Given the description of an element on the screen output the (x, y) to click on. 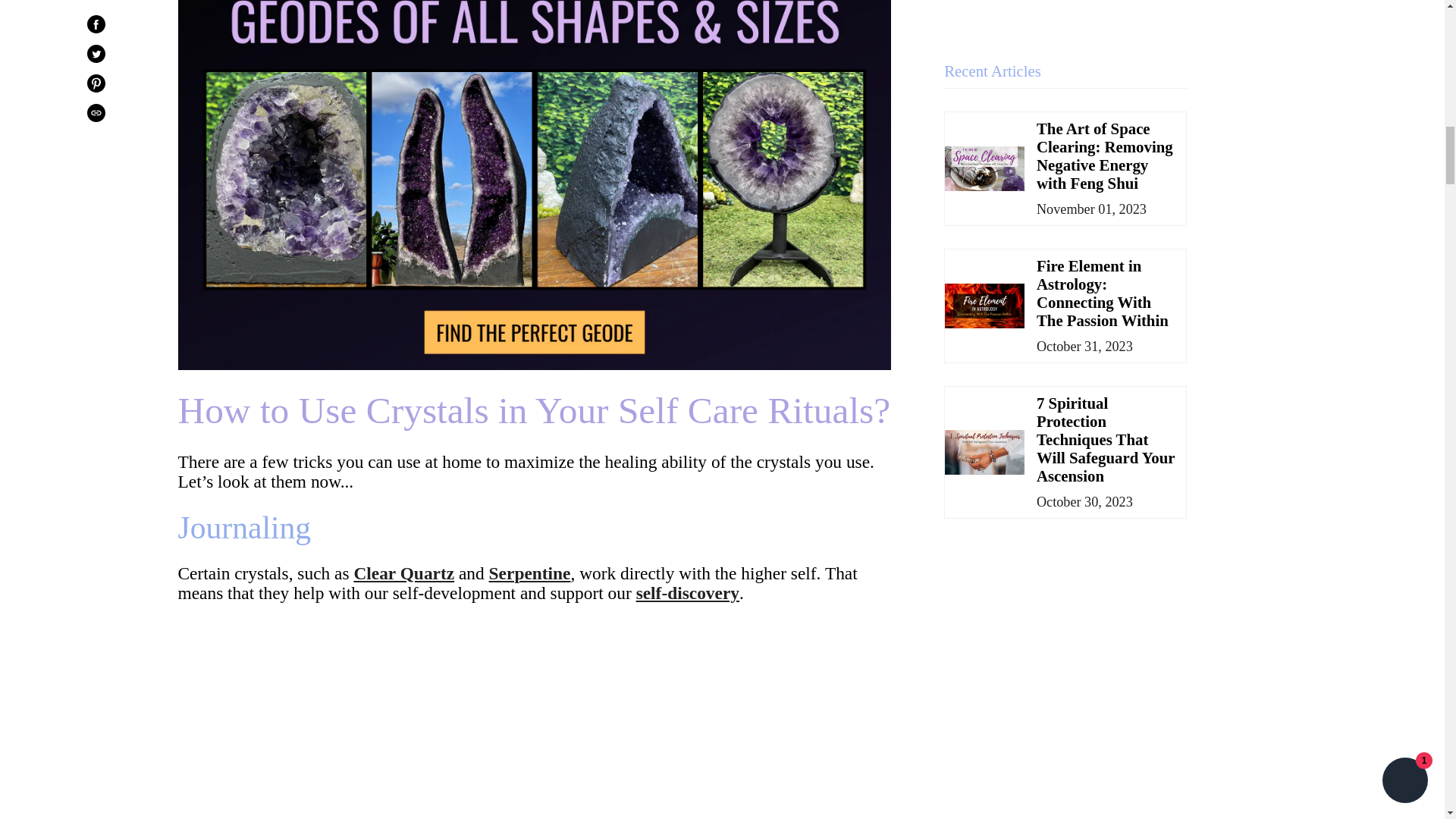
Serpentine (529, 573)
Clear Quartz (403, 573)
Self-Discovery (687, 592)
